Given the description of an element on the screen output the (x, y) to click on. 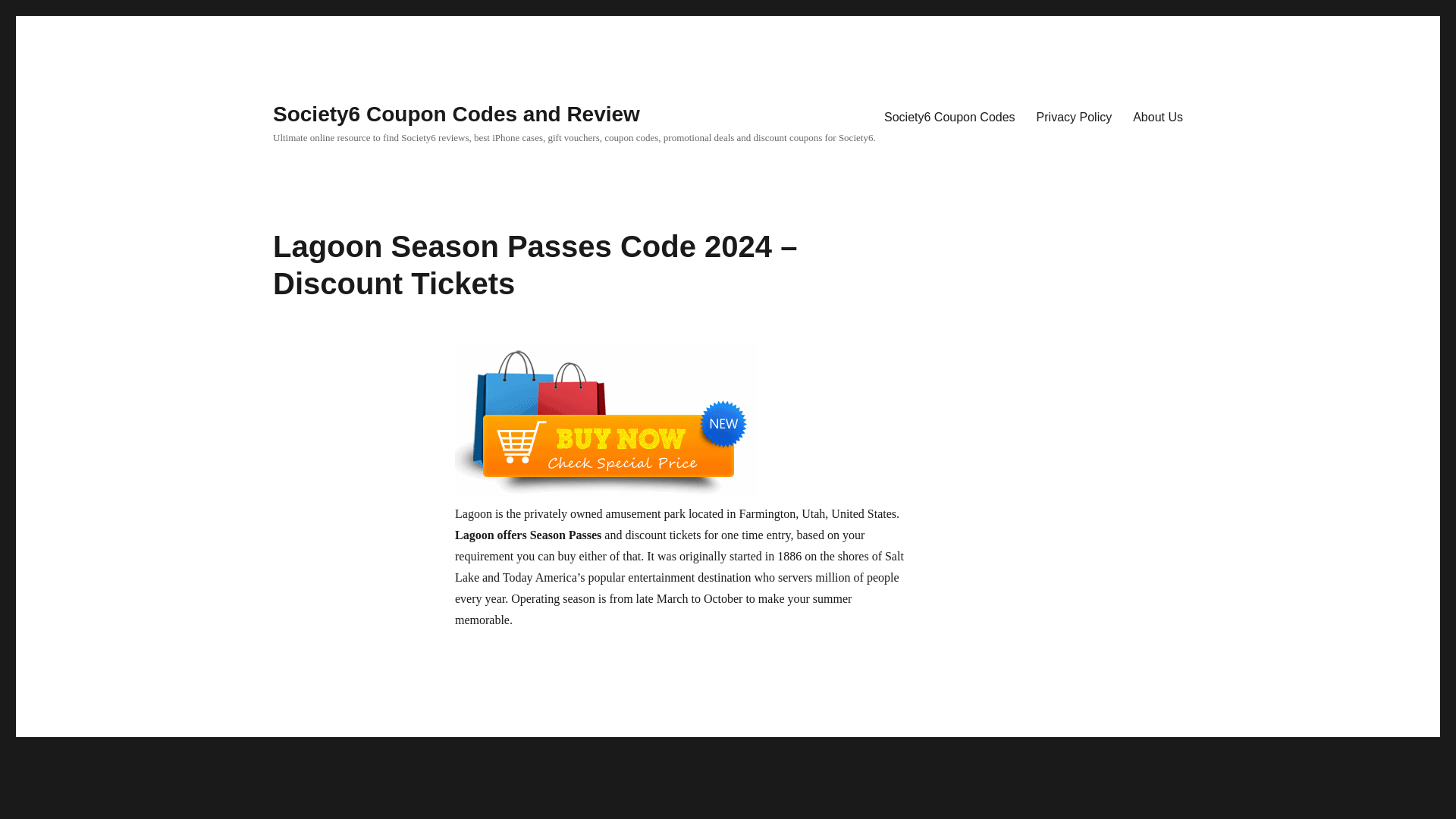
About Us (1157, 116)
Society6 Coupon Codes and Review (456, 114)
Society6 Coupon Codes (949, 116)
Privacy Policy (1074, 116)
